Given the description of an element on the screen output the (x, y) to click on. 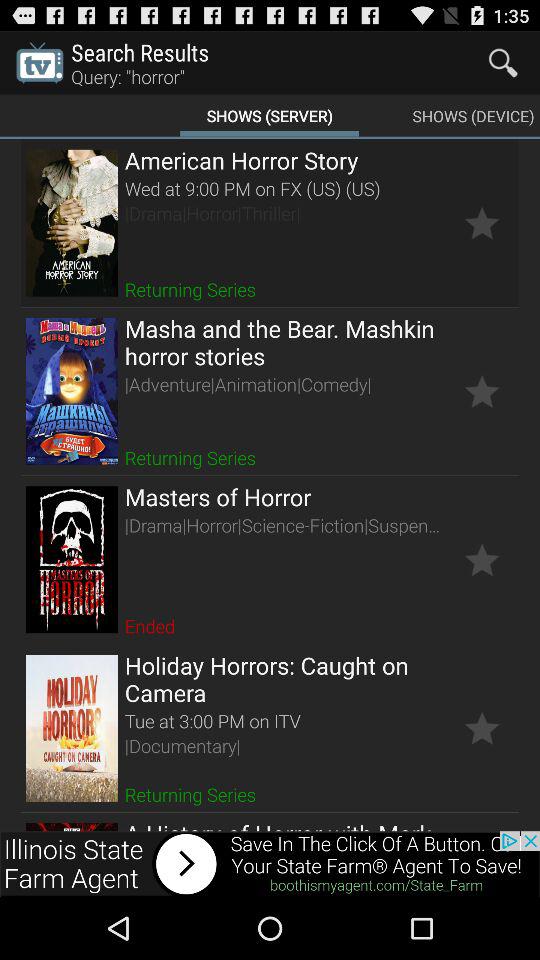
add to favorite (481, 391)
